Given the description of an element on the screen output the (x, y) to click on. 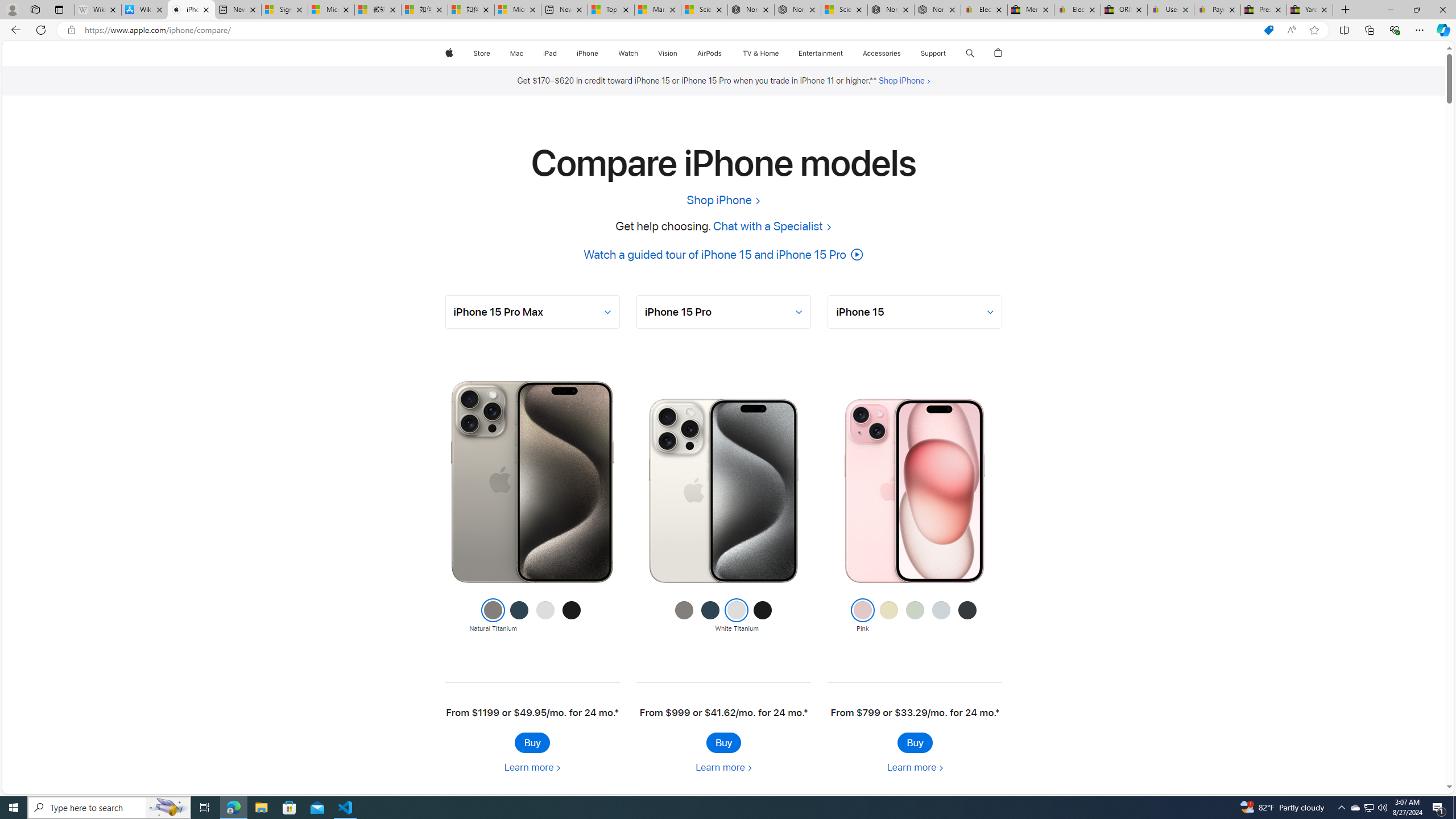
Marine life - MSN (656, 9)
Payments Terms of Use | eBay.com (1216, 9)
Class: colornav-link current (862, 610)
Watch menu (640, 53)
Class: globalnav-item globalnav-search shift-0-1 (969, 53)
White Titanium (736, 615)
Blue (940, 615)
Vision (667, 53)
